Given the description of an element on the screen output the (x, y) to click on. 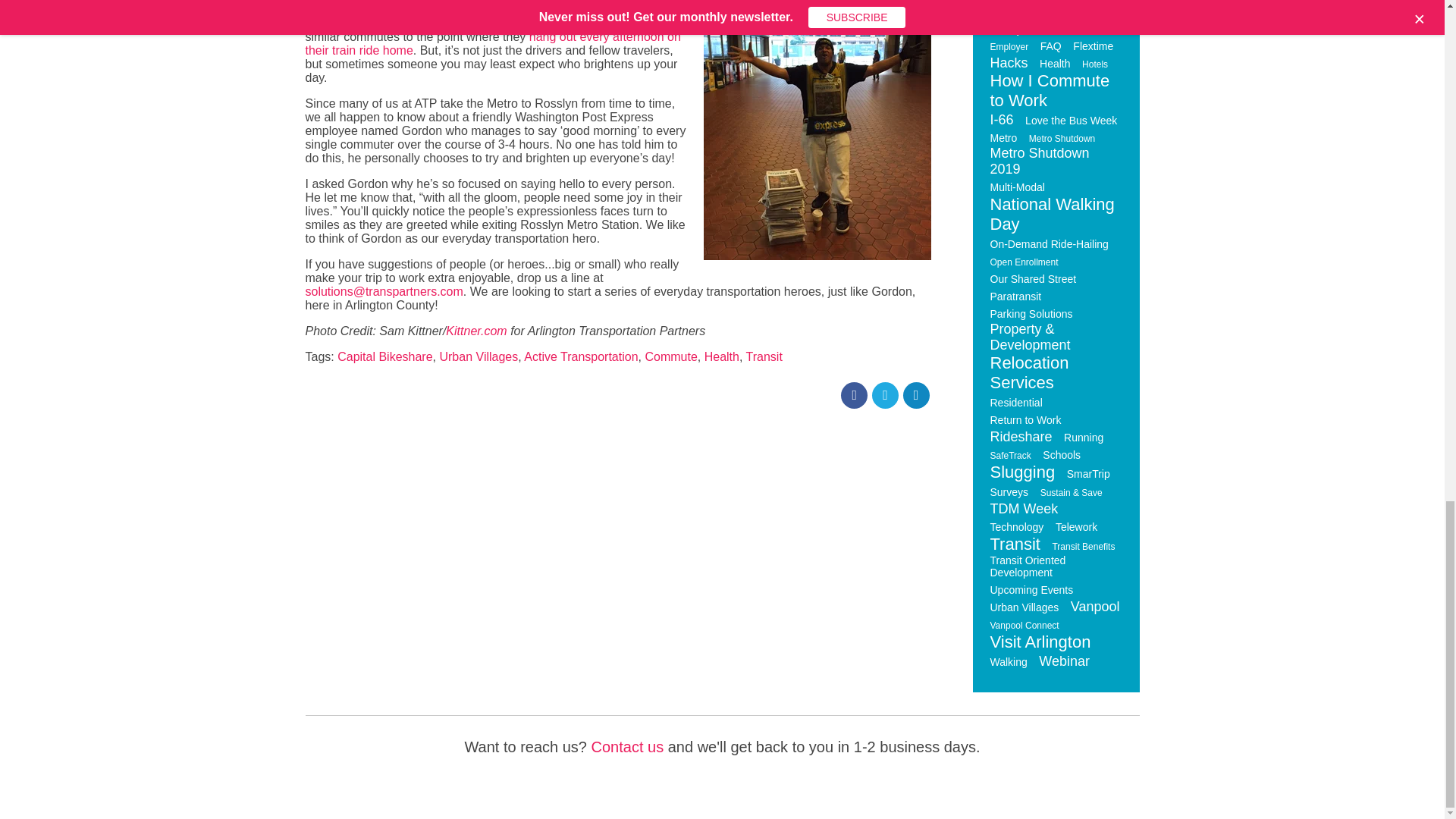
facebook (854, 393)
twitter (885, 393)
linkedin (915, 393)
